Given the description of an element on the screen output the (x, y) to click on. 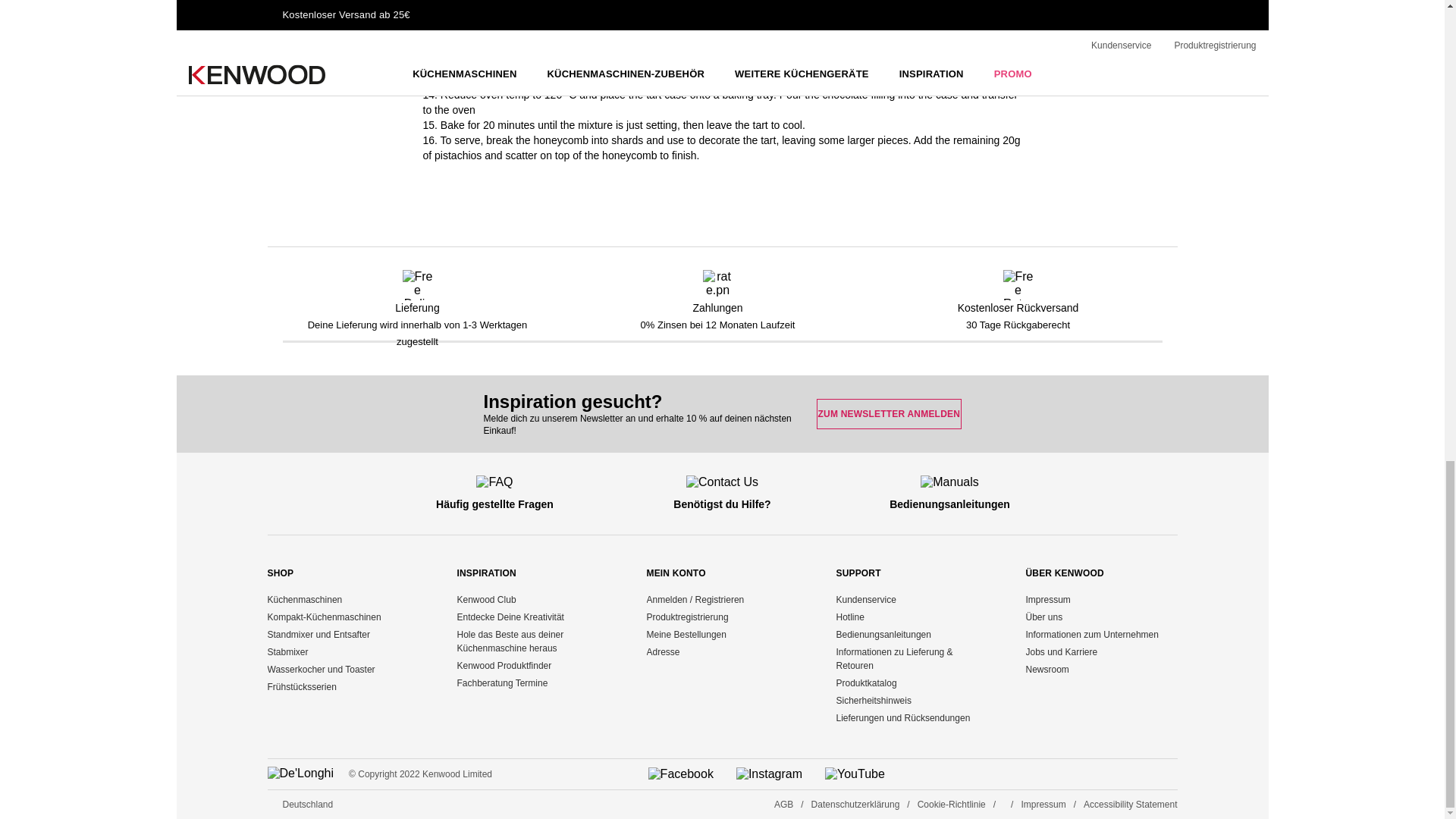
Wasserkocher und Toaster (320, 669)
Kundenservice  (865, 599)
Standmixer und Entsafter (317, 634)
Kenwood Produktfinder (504, 665)
Adresse (662, 652)
Stabmixer (286, 652)
Meine Bestellungen (685, 634)
Produktregistrierung (687, 616)
Kenwood Club (486, 599)
Fachberatung Termine (502, 683)
